Given the description of an element on the screen output the (x, y) to click on. 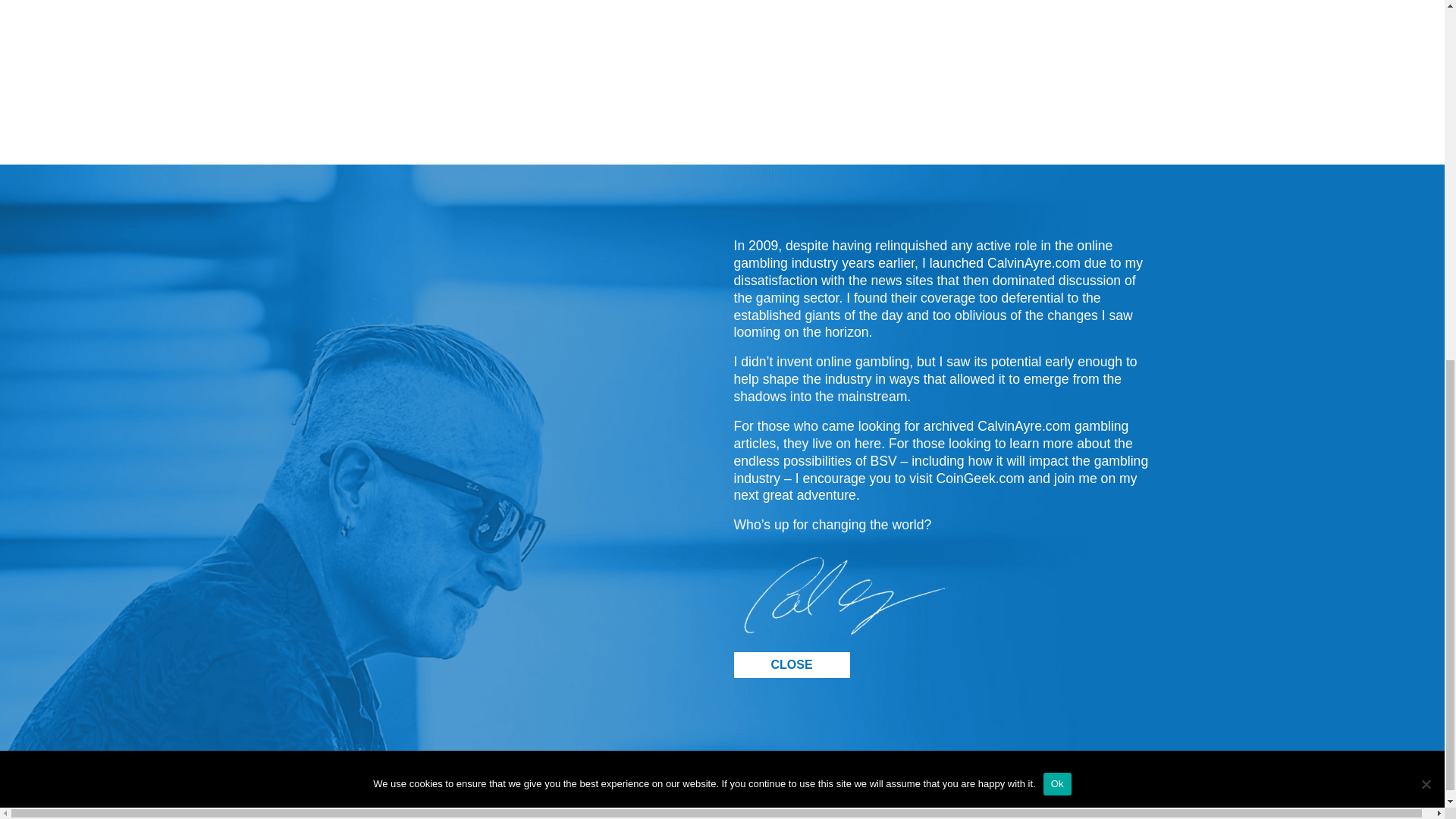
CLOSE (791, 664)
here (867, 443)
CoinGeek.com (979, 478)
Gambling News Archive (899, 784)
Ok (1057, 128)
No (1425, 129)
